Given the description of an element on the screen output the (x, y) to click on. 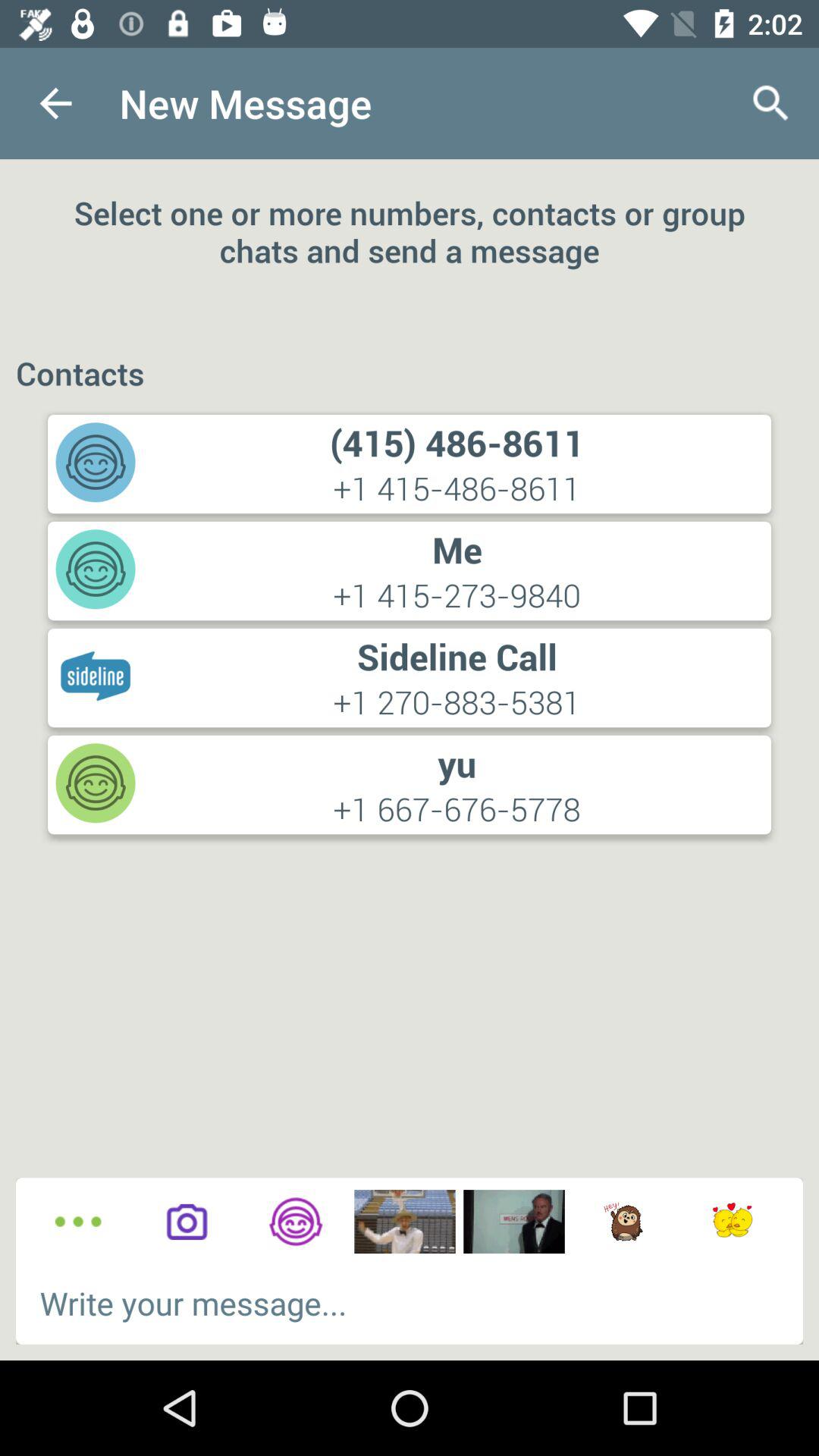
add images to chat (513, 1221)
